Given the description of an element on the screen output the (x, y) to click on. 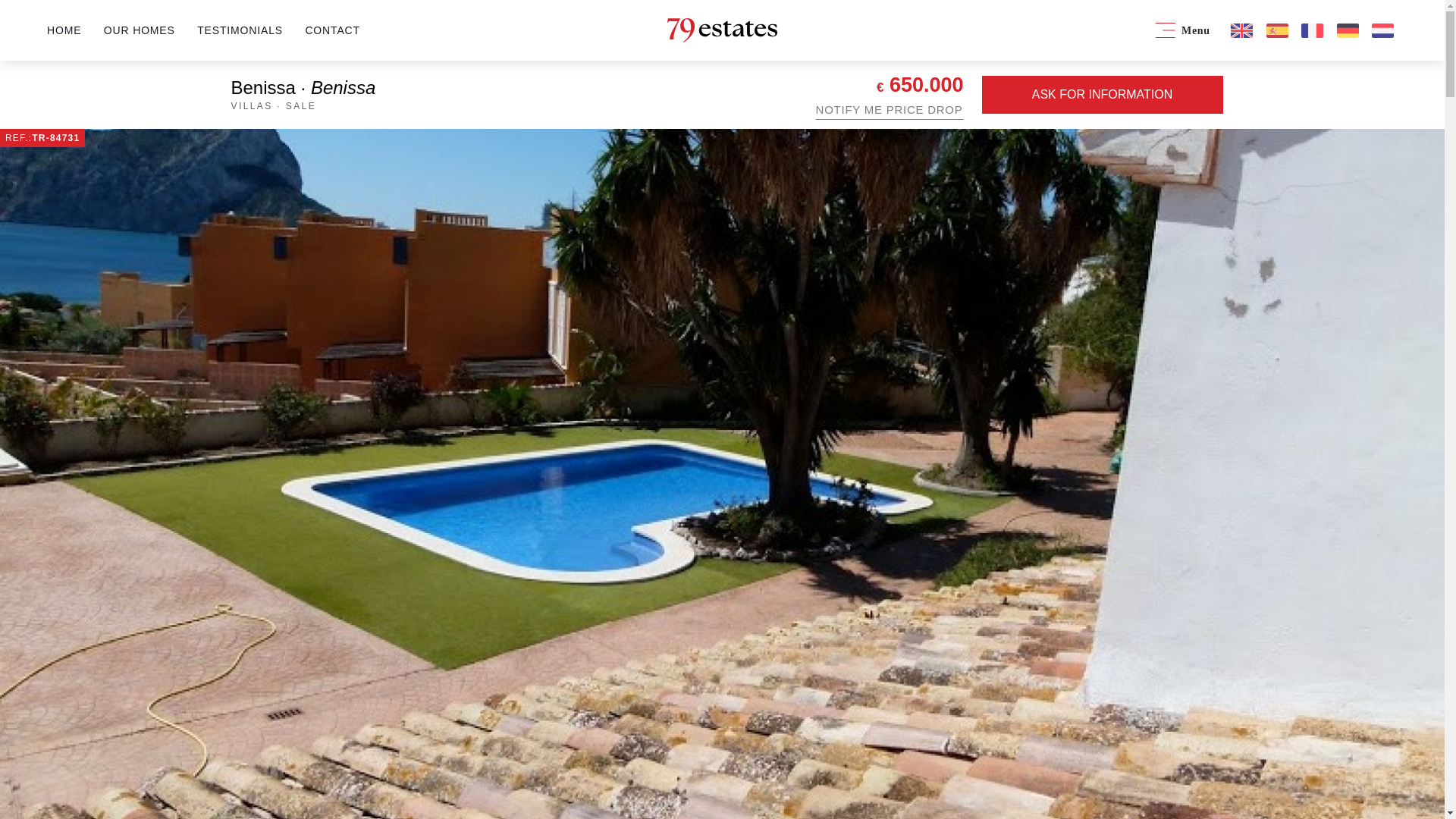
OUR HOMES (138, 30)
Menu (1182, 30)
HOME (63, 30)
79 estates (721, 30)
TESTIMONIALS (239, 30)
CONTACT (331, 30)
